Given the description of an element on the screen output the (x, y) to click on. 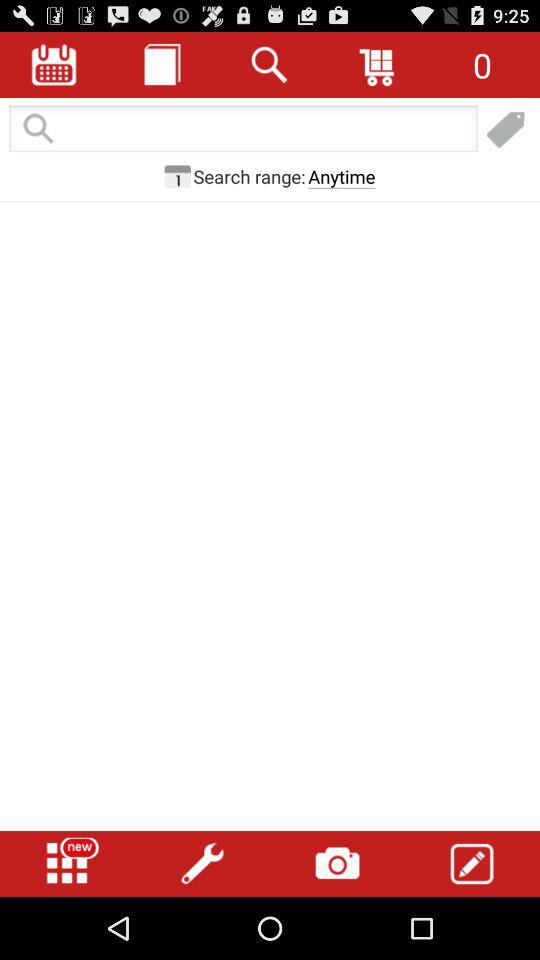
launch the anytime button (341, 175)
